Given the description of an element on the screen output the (x, y) to click on. 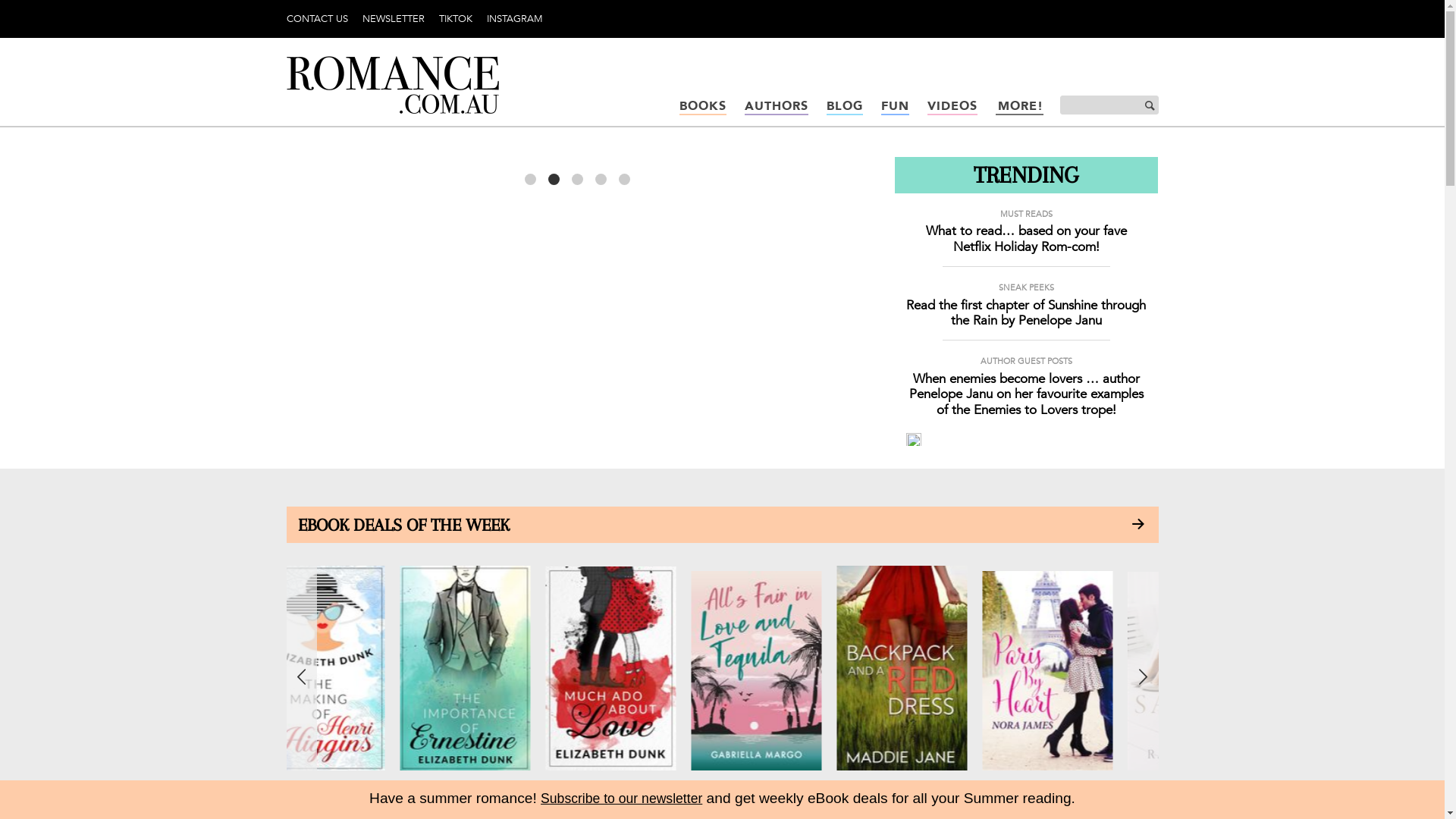
INSTAGRAM Element type: text (514, 18)
BLOG Element type: text (844, 107)
TIKTOK Element type: text (454, 18)
SNEAK PEEKS Element type: text (1026, 287)
MORE! Element type: text (1018, 107)
Subscribe to our newsletter Element type: text (621, 797)
FUN Element type: text (895, 107)
BOOKS Element type: text (702, 107)
AUTHORS Element type: text (776, 107)
MUST READS Element type: text (1026, 213)
Search Element type: text (1143, 105)
VIDEOS Element type: text (952, 107)
AUTHOR GUEST POSTS Element type: text (1026, 361)
CONTACT US Element type: text (317, 18)
NEWSLETTER Element type: text (393, 18)
